Given the description of an element on the screen output the (x, y) to click on. 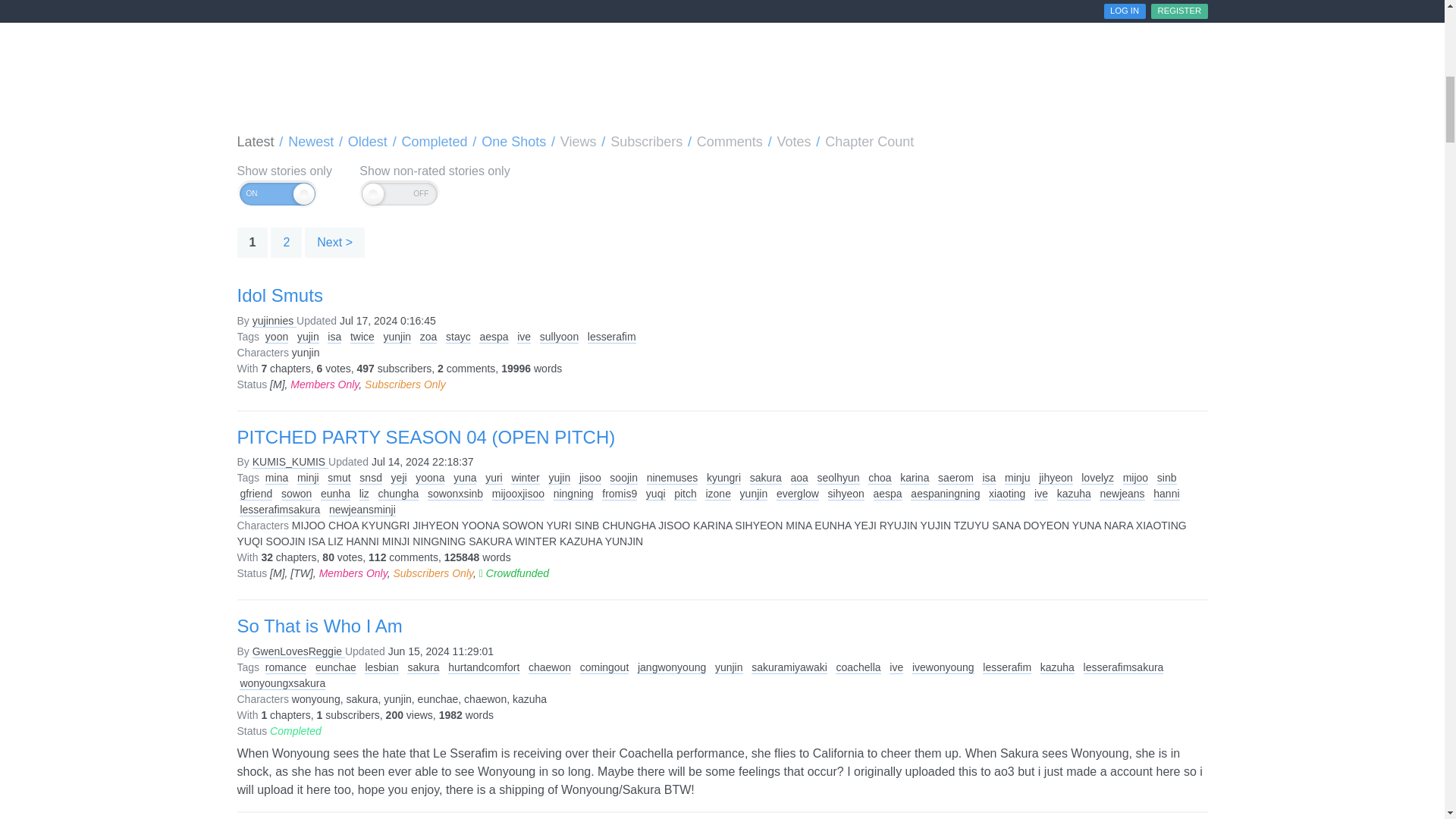
Advertisement (721, 62)
